Given the description of an element on the screen output the (x, y) to click on. 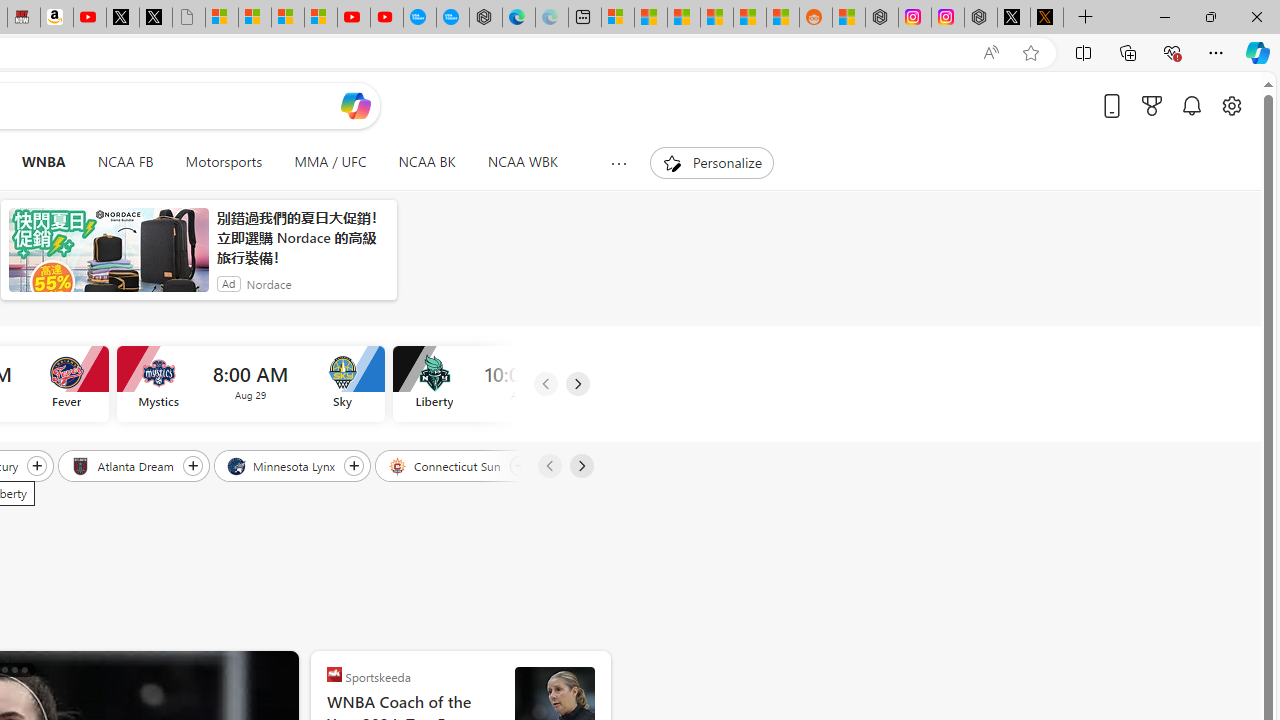
Motorsports (223, 162)
Previous (548, 465)
Follow Atlanta Dream (192, 465)
Motorsports (223, 162)
NCAA BK (426, 162)
Liberty vs Sparks Time 10:00 AM Date Aug 29 (525, 383)
Microsoft account | Microsoft Account Privacy Settings (617, 17)
X (155, 17)
Follow Minnesota Lynx (354, 465)
